Given the description of an element on the screen output the (x, y) to click on. 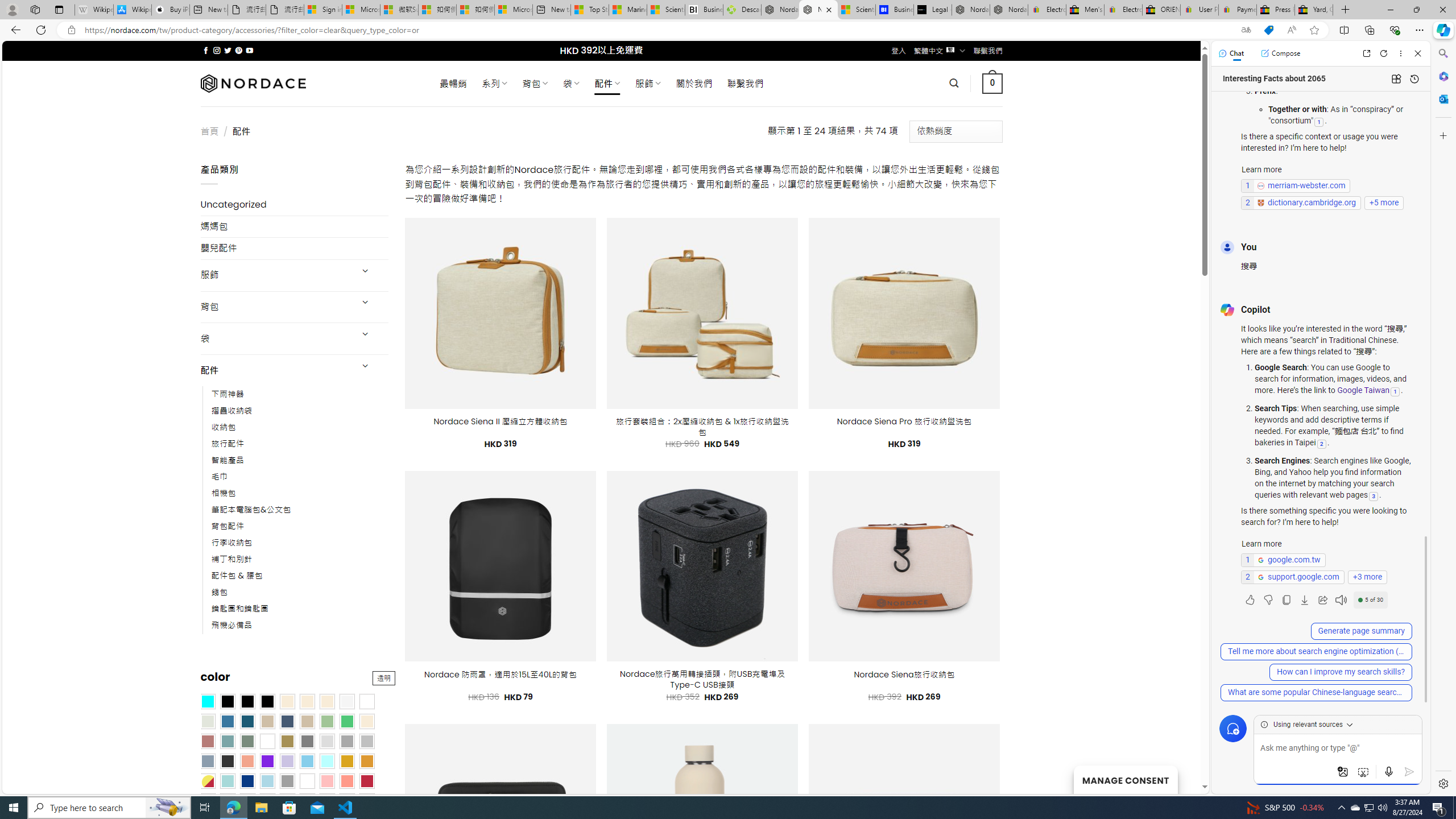
  0   (992, 83)
